Given the description of an element on the screen output the (x, y) to click on. 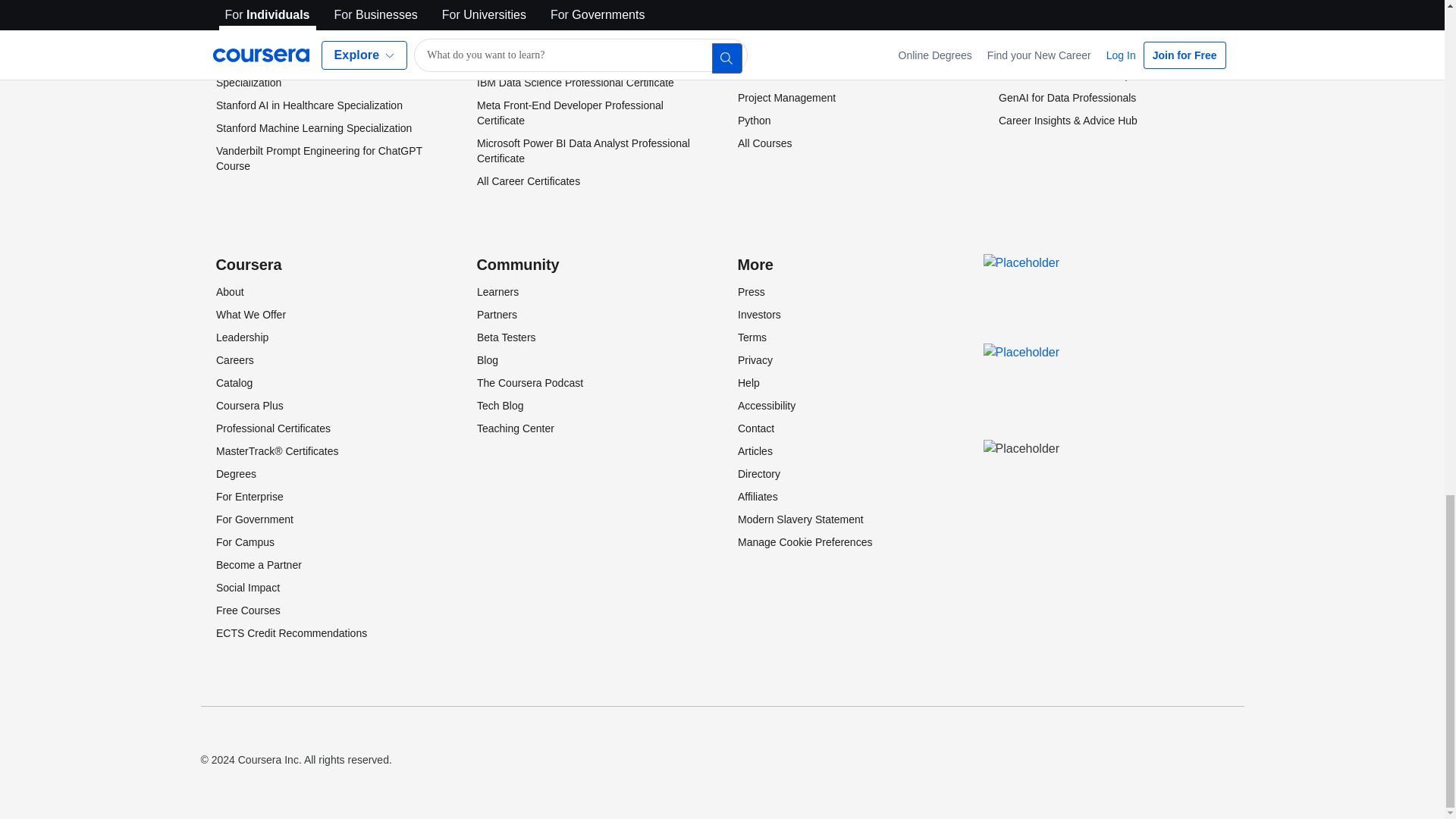
IBM Generative AI Fundamentals Specialization (293, 74)
Google AI Essentials Course (282, 6)
Google Cloud Introduction to Generative AI Course (316, 36)
Stanford AI in Healthcare Specialization (308, 105)
